Given the description of an element on the screen output the (x, y) to click on. 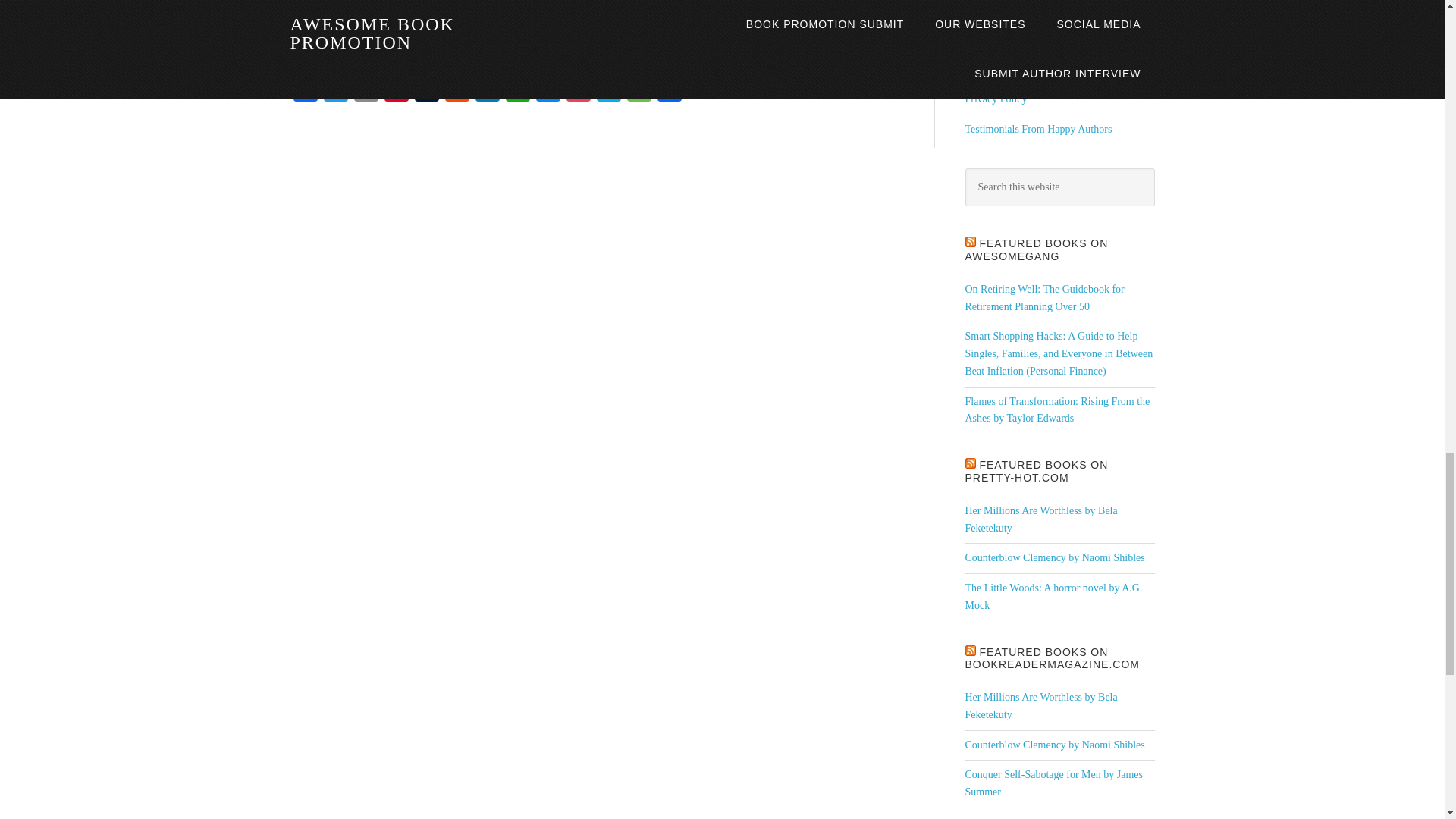
Pinterest (395, 90)
Skype (607, 90)
Tumblr (425, 90)
Pocket (577, 90)
Message (638, 90)
Facebook (304, 90)
Messenger (547, 90)
Twitter (335, 90)
Reddit (456, 90)
LinkedIn (486, 90)
Tumblr (425, 90)
Messenger (547, 90)
Pocket (577, 90)
Reddit (456, 90)
WhatsApp (517, 90)
